Given the description of an element on the screen output the (x, y) to click on. 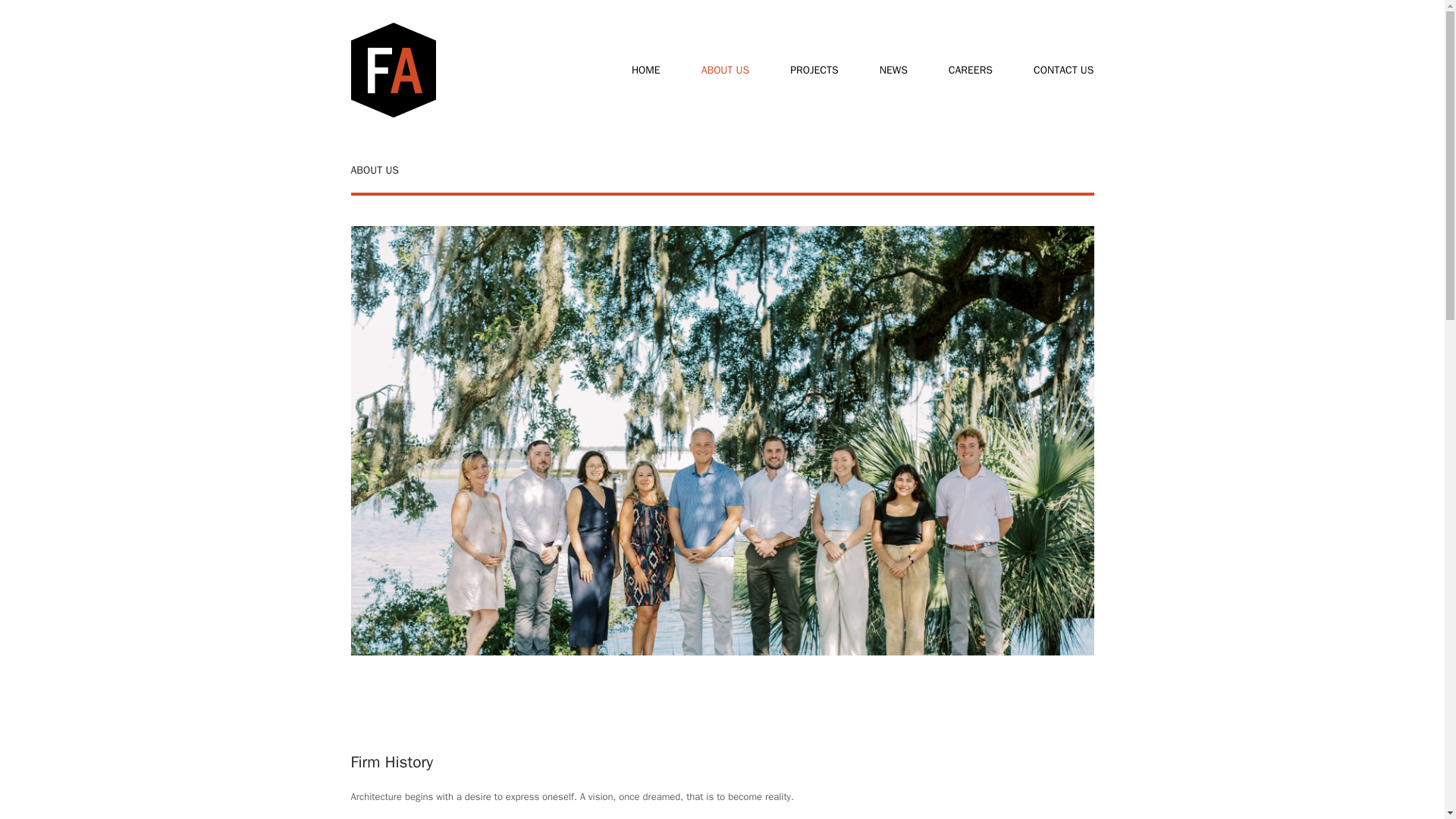
HOME (645, 70)
CONTACT US (1063, 70)
NEWS (892, 70)
PROJECTS (814, 70)
CAREERS (970, 70)
ABOUT US (725, 70)
